Given the description of an element on the screen output the (x, y) to click on. 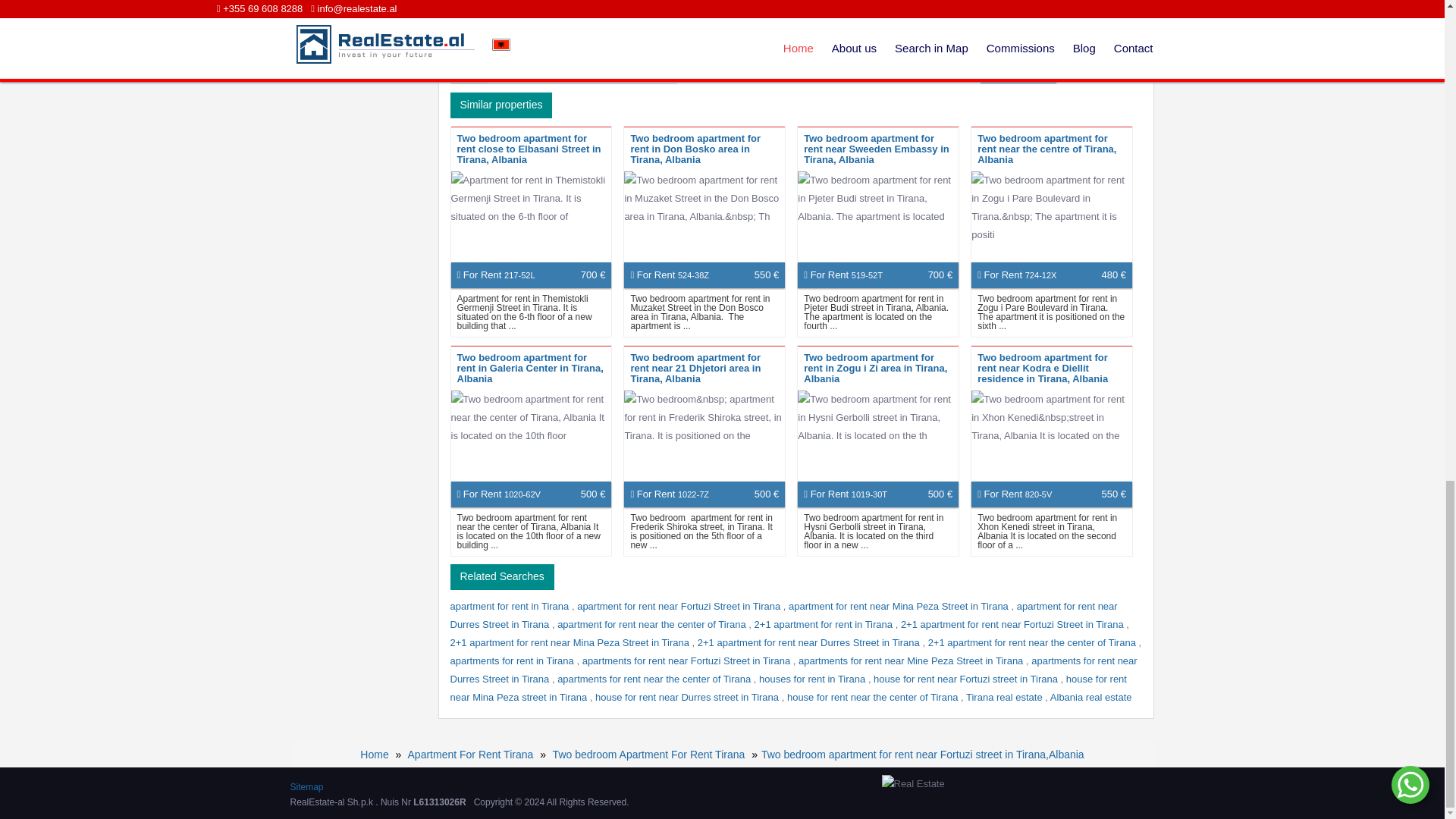
Related Searches (501, 576)
Send message (1018, 71)
Send message (1018, 71)
OpenStreetMap (597, 76)
Similar properties (501, 104)
